Given the description of an element on the screen output the (x, y) to click on. 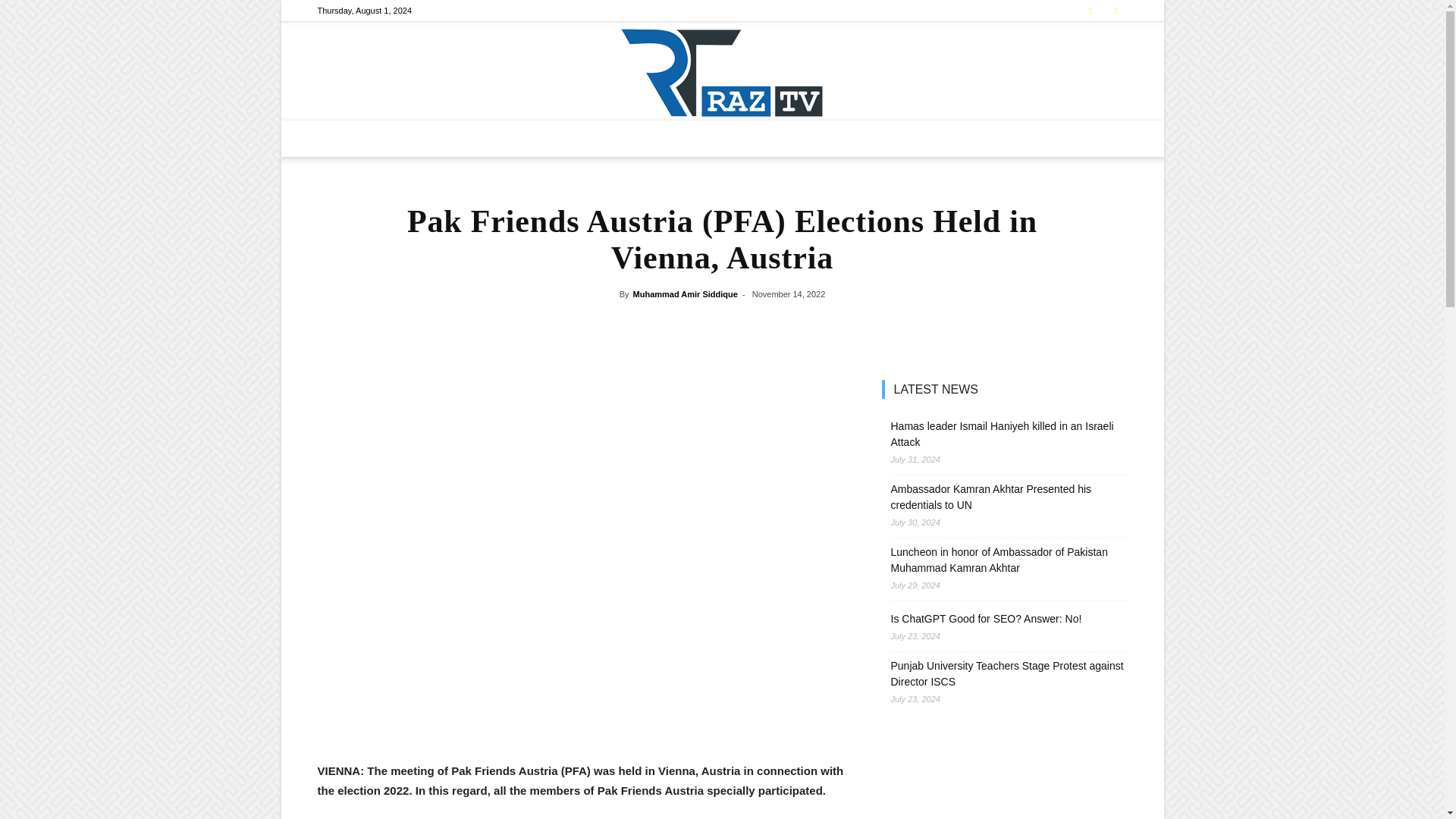
Advertisement (580, 722)
Liberland (668, 138)
Pakistan (503, 138)
Home (407, 138)
Poetry (874, 138)
Latest (452, 138)
India (617, 138)
World (721, 138)
Linkedin (1114, 10)
Bangladesh (563, 138)
